Given the description of an element on the screen output the (x, y) to click on. 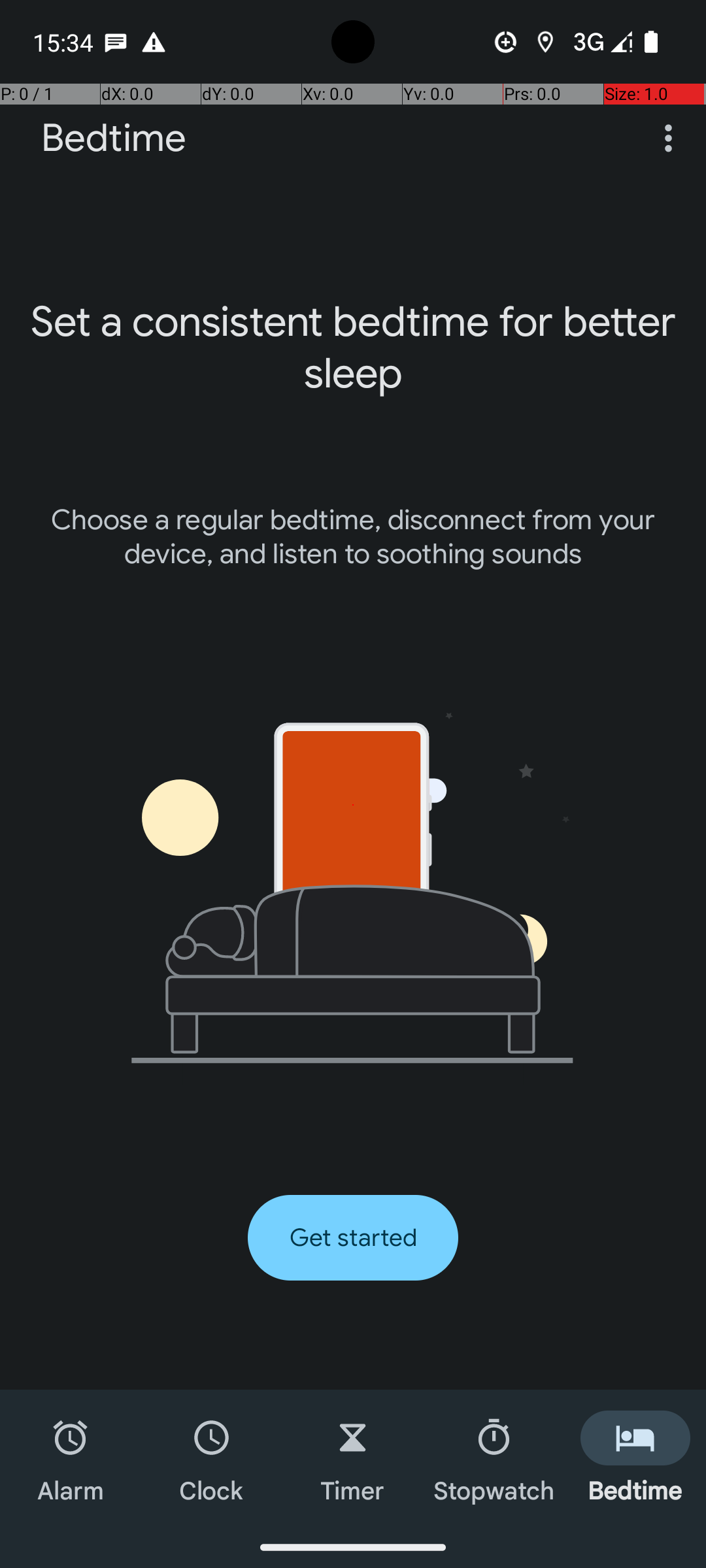
Set a consistent bedtime for better sleep Element type: android.widget.TextView (352, 347)
Choose a regular bedtime, disconnect from your device, and listen to soothing sounds Element type: android.widget.TextView (352, 536)
